Given the description of an element on the screen output the (x, y) to click on. 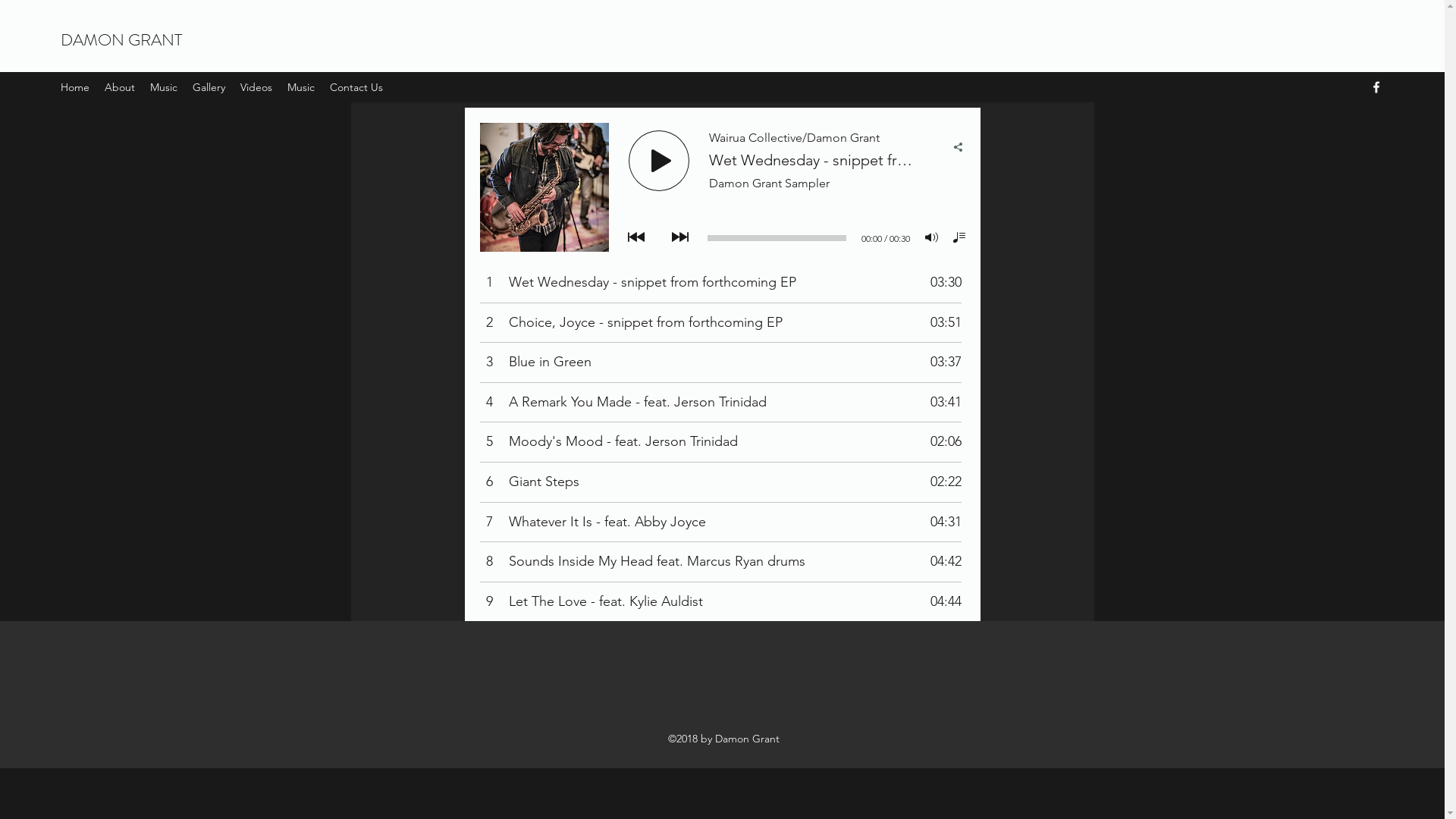
Wix Music Element type: hover (721, 364)
Contact Us Element type: text (356, 86)
Gallery Element type: text (208, 86)
Videos Element type: text (255, 86)
DAMON GRANT Element type: text (121, 39)
Home Element type: text (75, 86)
Music Element type: text (163, 86)
About Element type: text (119, 86)
Music Element type: text (300, 86)
